Given the description of an element on the screen output the (x, y) to click on. 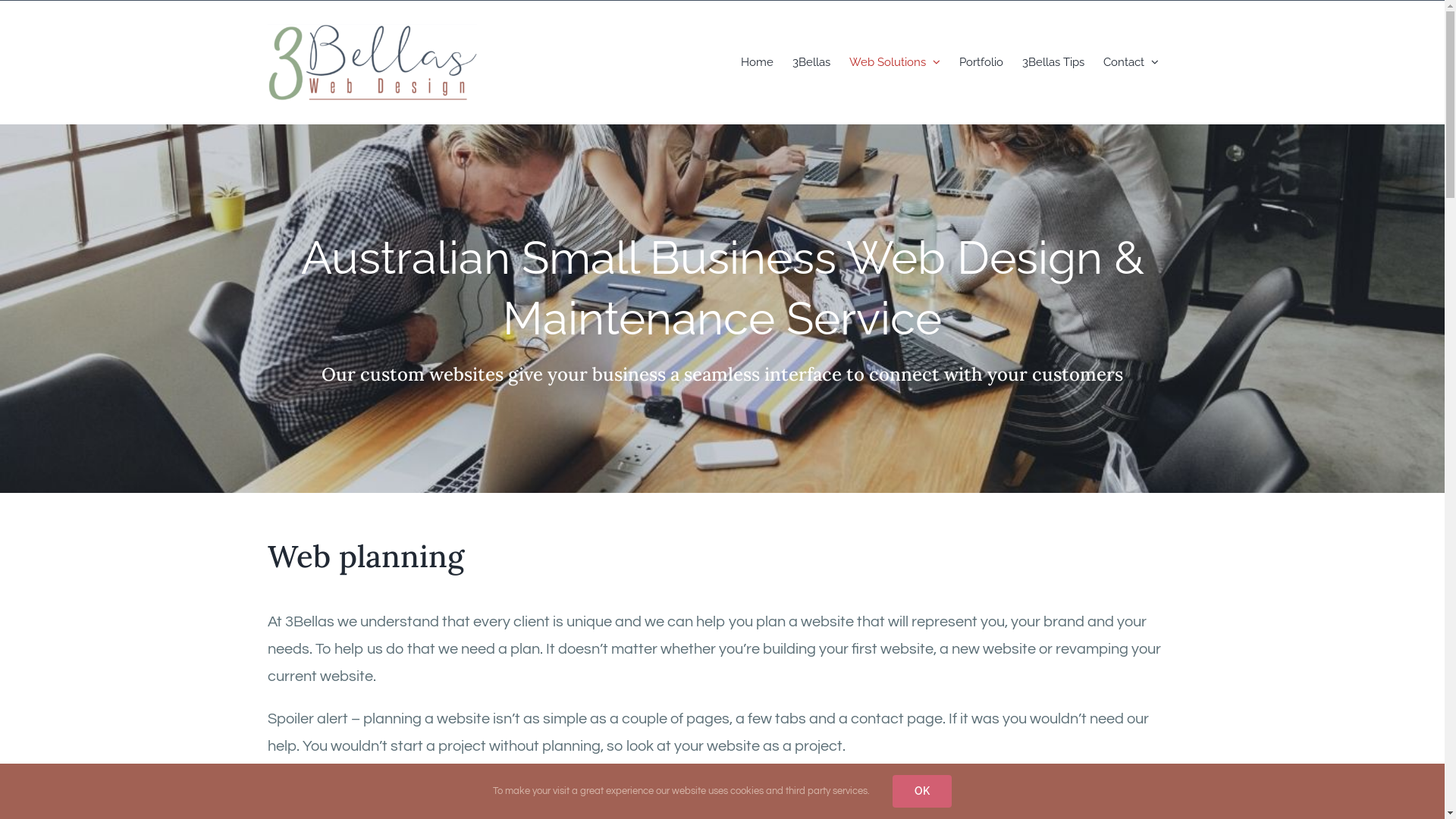
3Bellas Element type: text (810, 61)
Contact Element type: text (1129, 61)
Web Solutions Element type: text (894, 61)
OK Element type: text (921, 791)
Home Element type: text (756, 61)
Portfolio Element type: text (980, 61)
3Bellas Tips Element type: text (1053, 61)
